Given the description of an element on the screen output the (x, y) to click on. 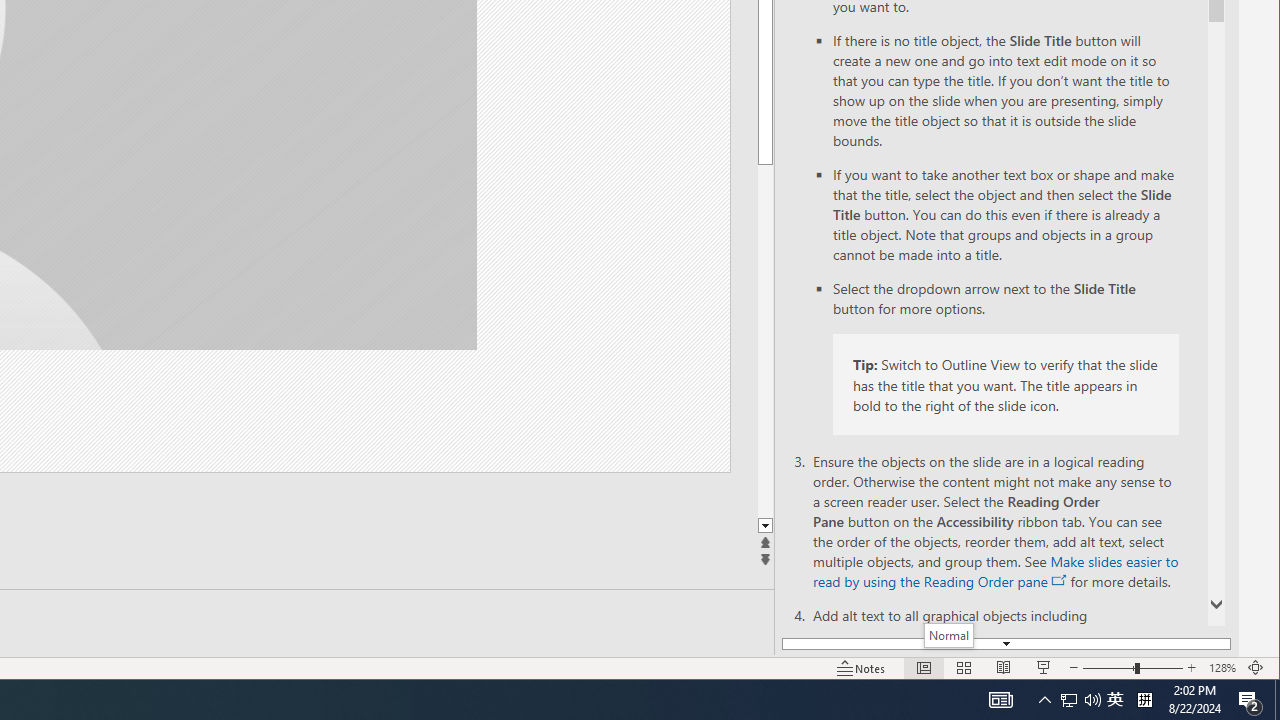
Zoom to Fit  (1256, 668)
User Promoted Notification Area (1080, 699)
Notification Chevron (1115, 699)
Reading View (1044, 699)
Zoom 128% (1004, 668)
AutomationID: 4105 (1222, 668)
openinnewwindow (1000, 699)
Zoom In (1059, 580)
Notes  (1191, 668)
